Given the description of an element on the screen output the (x, y) to click on. 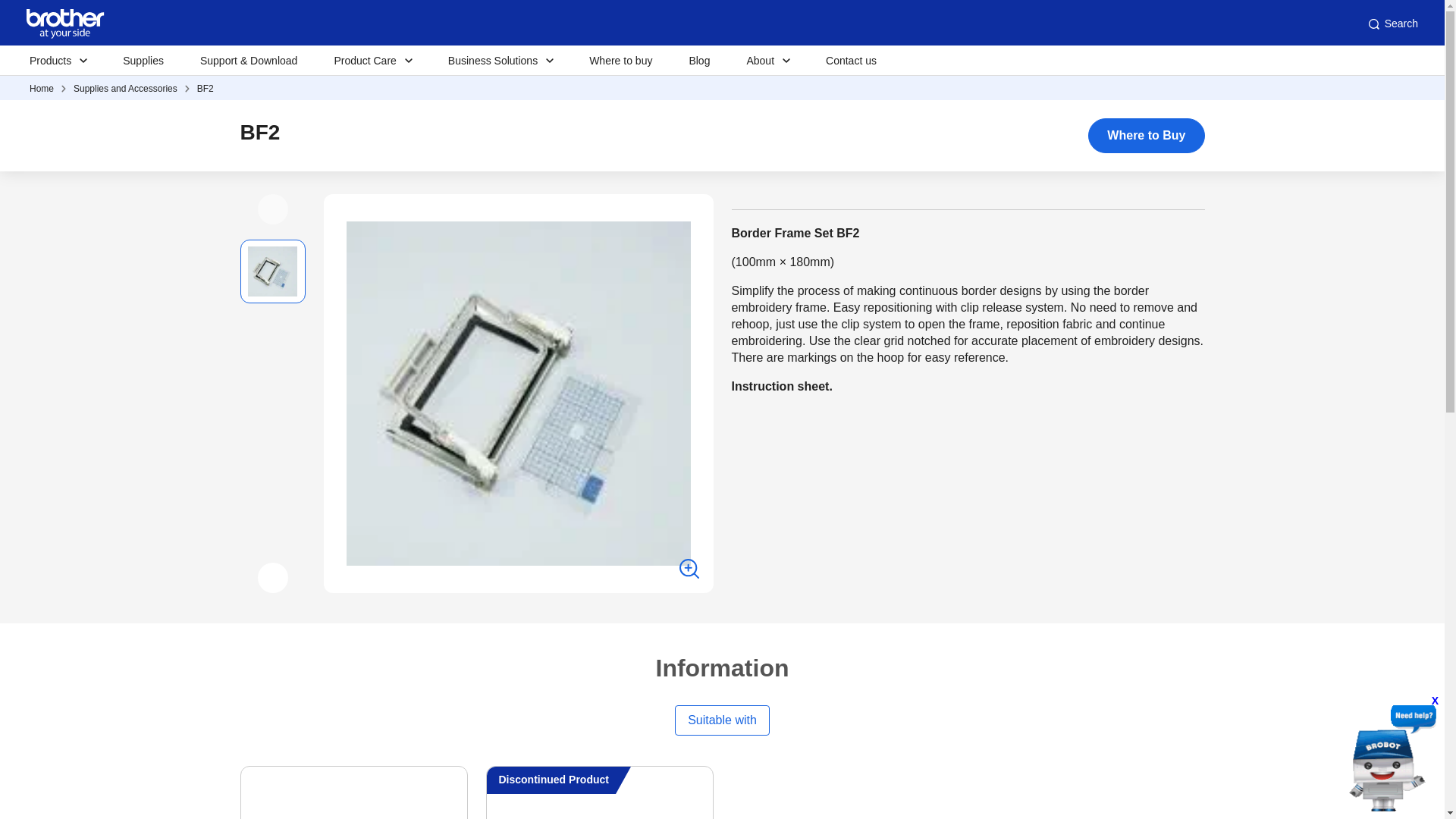
Supplies and Accessories (125, 88)
Supplies (143, 60)
BF2 (205, 88)
Home (41, 88)
This link opens in a new window (780, 386)
Search (1392, 23)
